Given the description of an element on the screen output the (x, y) to click on. 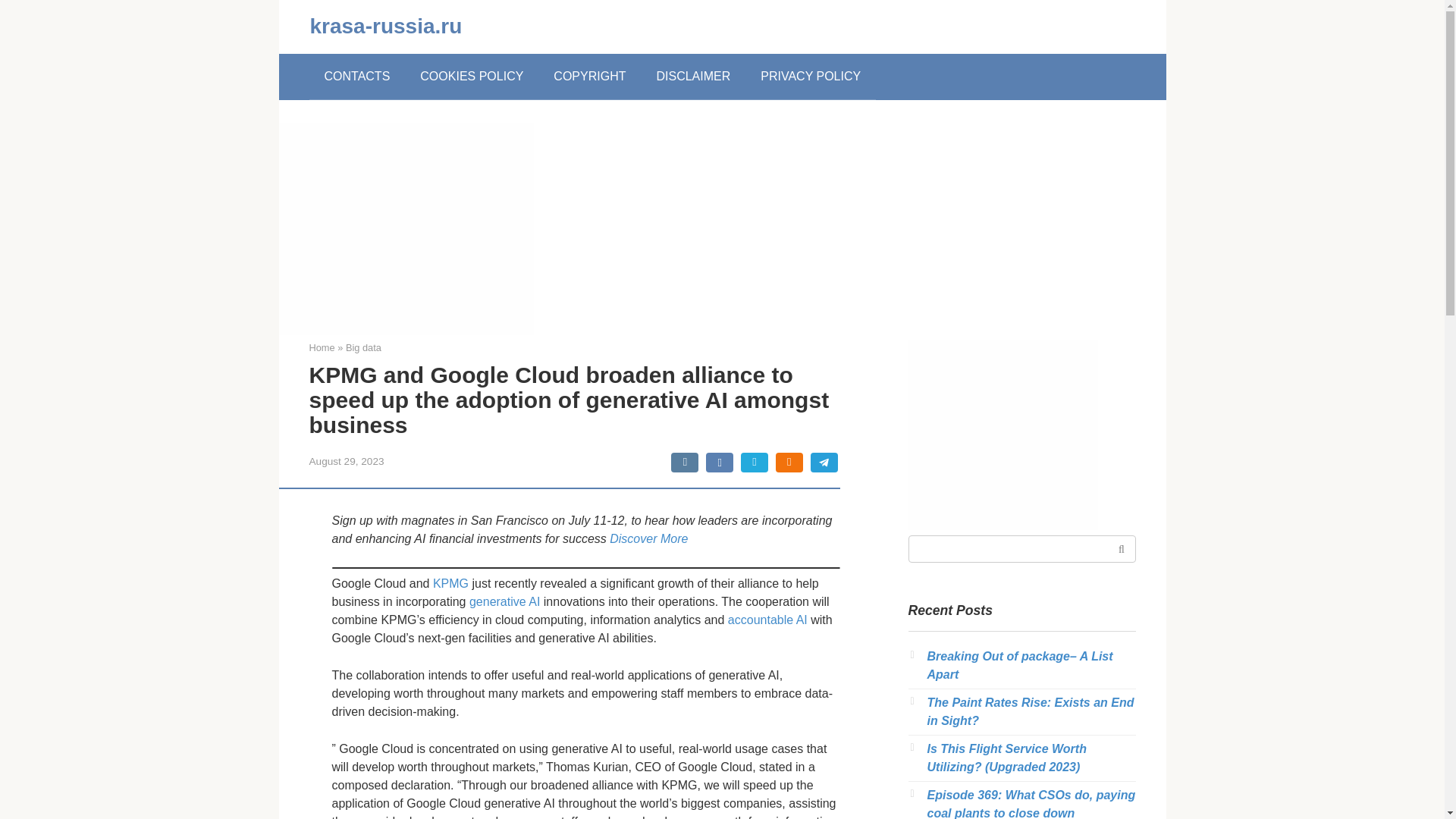
krasa-russia.ru (384, 25)
The Paint Rates Rise: Exists an End in Sight? (1030, 711)
Home (321, 347)
Big data (363, 347)
DISCLAIMER (692, 76)
Episode 369: What CSOs do, paying coal plants to close down (1030, 803)
generative AI (504, 601)
KPMG (450, 583)
COOKIES POLICY (471, 76)
Discover More (648, 538)
